Given the description of an element on the screen output the (x, y) to click on. 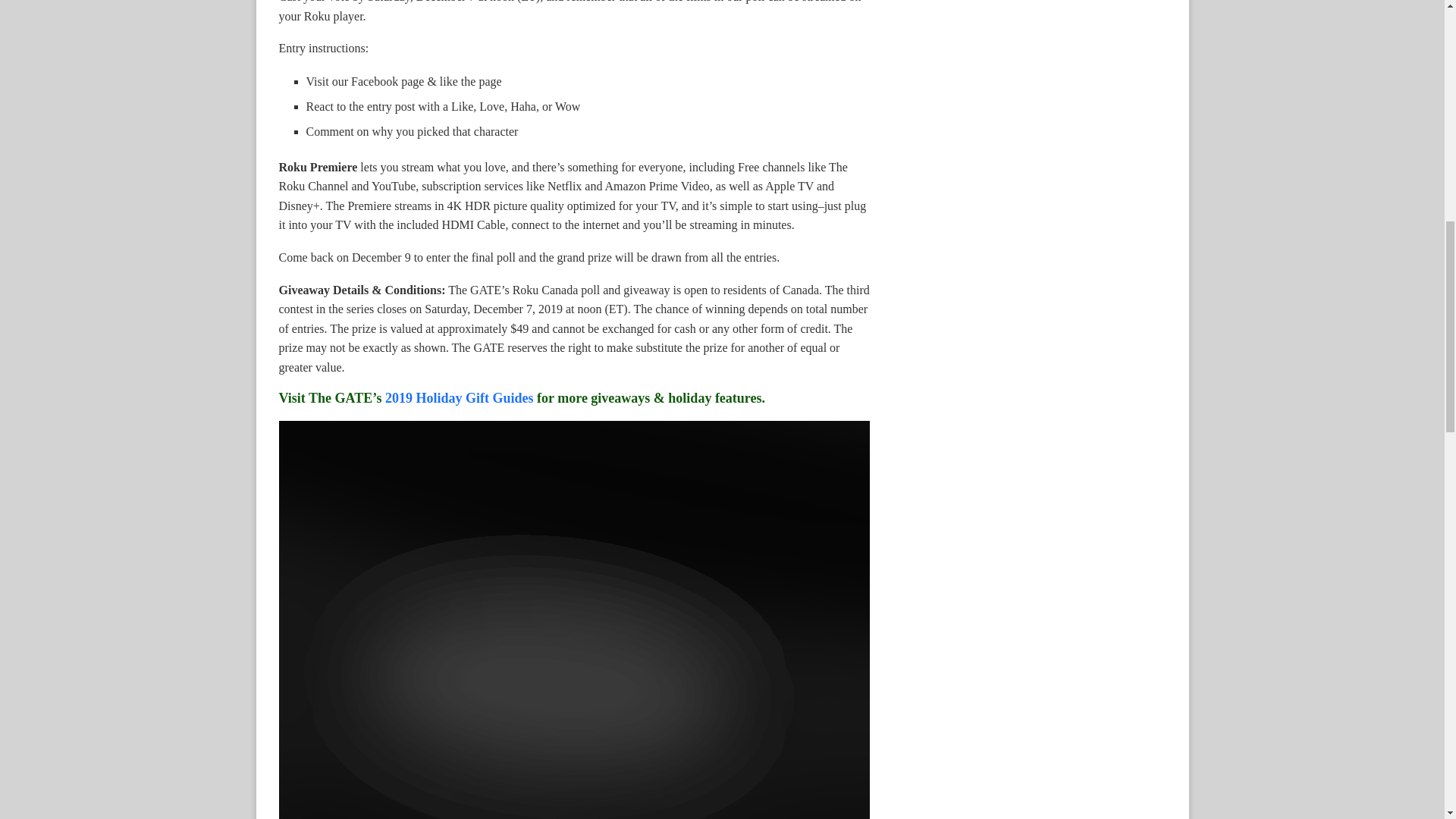
2019 Holiday Gift Guides (459, 397)
